Given the description of an element on the screen output the (x, y) to click on. 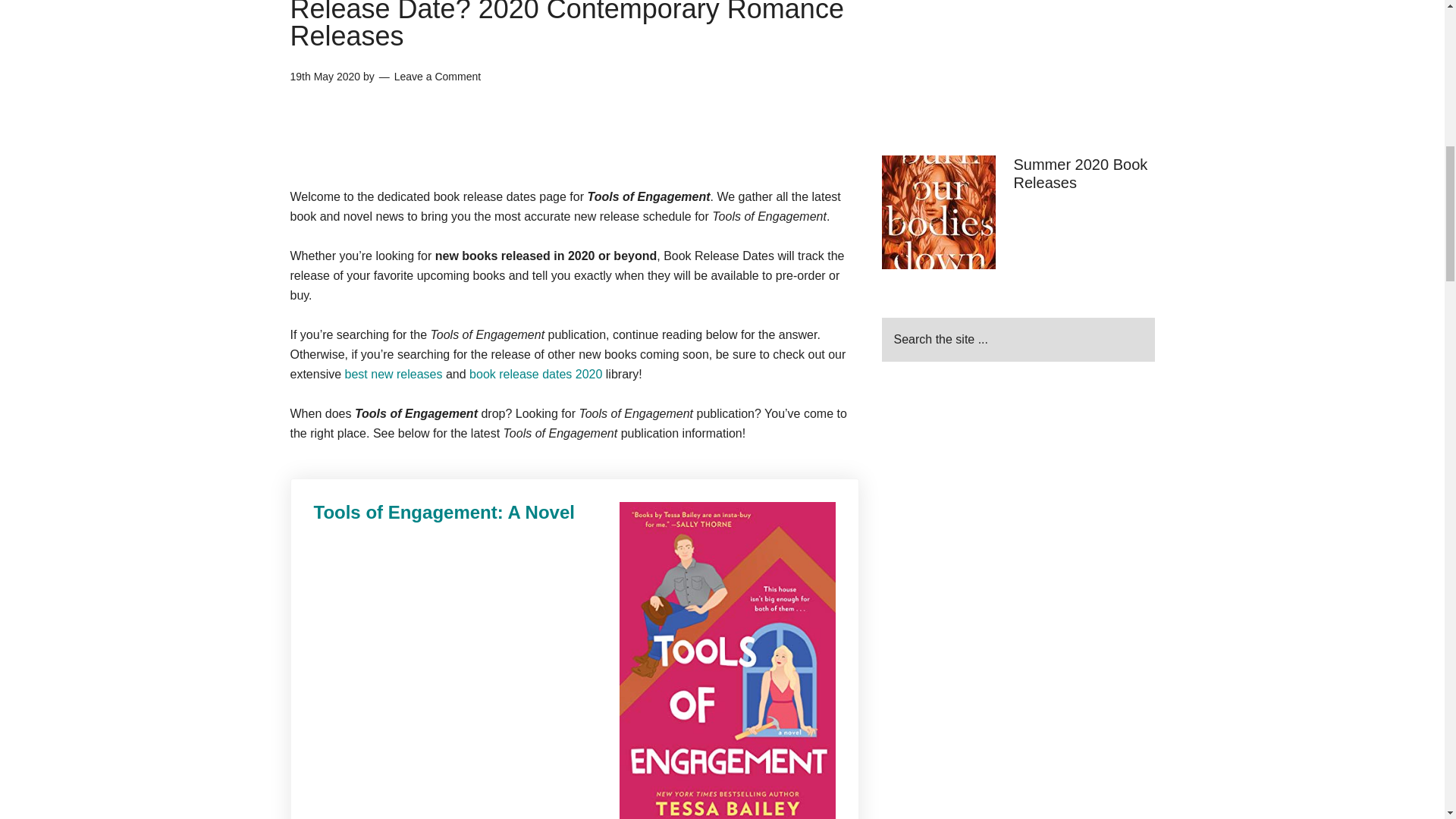
Tools of Engagement: A Novel (574, 512)
best new releases (393, 373)
book release dates 2020 (535, 373)
Advertisement (1017, 62)
Leave a Comment (437, 76)
